Given the description of an element on the screen output the (x, y) to click on. 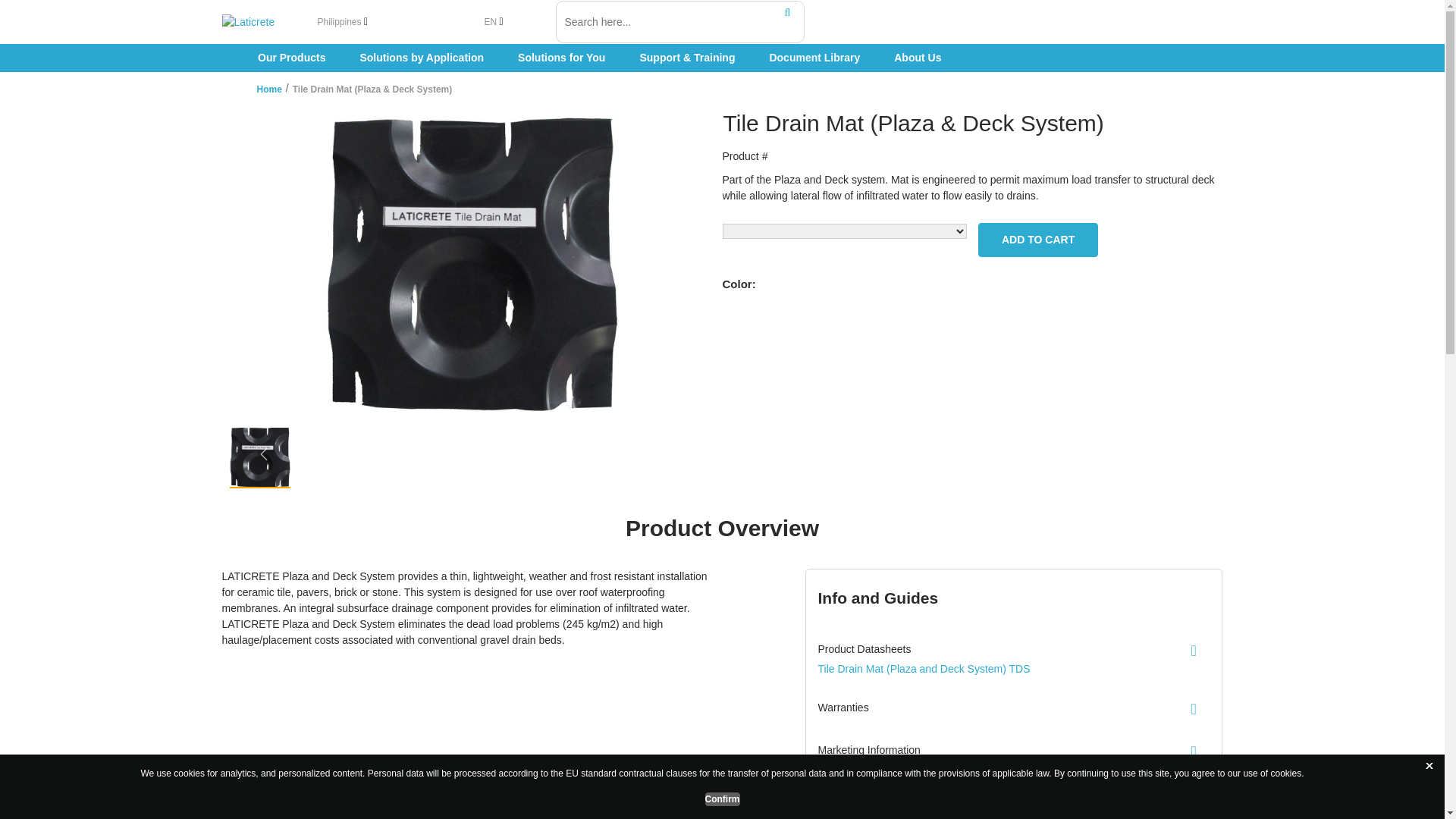
Laticrete Logo (262, 22)
Home (268, 89)
Tile Drain Mat Plaza  Deck System (973, 123)
Tile Drain Mat Plaza  Deck System (372, 89)
